Given the description of an element on the screen output the (x, y) to click on. 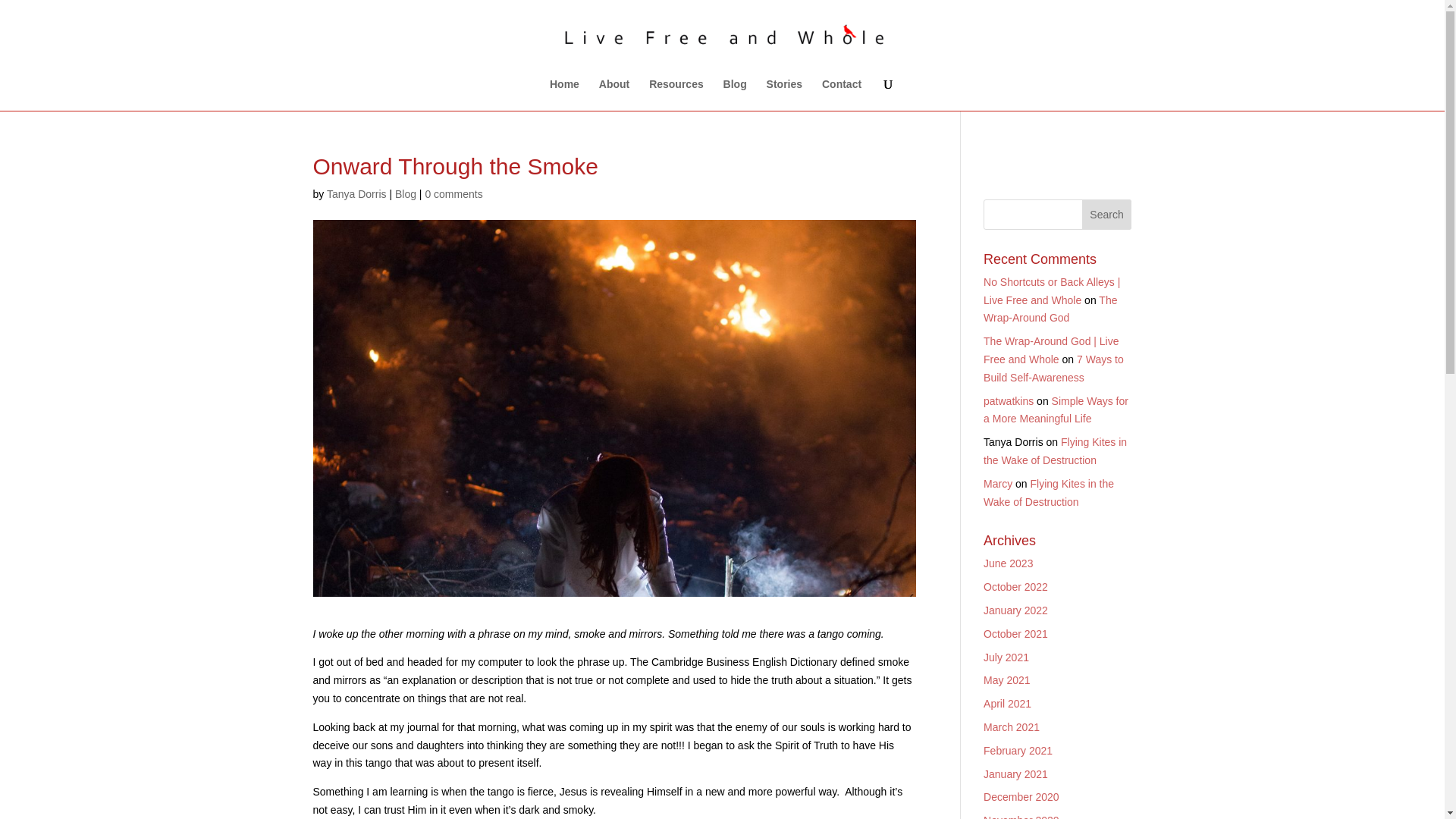
Tanya Dorris (356, 193)
March 2021 (1011, 727)
Posts by Tanya Dorris (356, 193)
January 2022 (1016, 610)
February 2021 (1018, 750)
0 comments (453, 193)
Contact (841, 94)
Simple Ways for a More Meaningful Life (1056, 409)
Blog (405, 193)
July 2021 (1006, 657)
October 2021 (1016, 633)
December 2020 (1021, 797)
About (613, 94)
Search (1106, 214)
October 2022 (1016, 586)
